Given the description of an element on the screen output the (x, y) to click on. 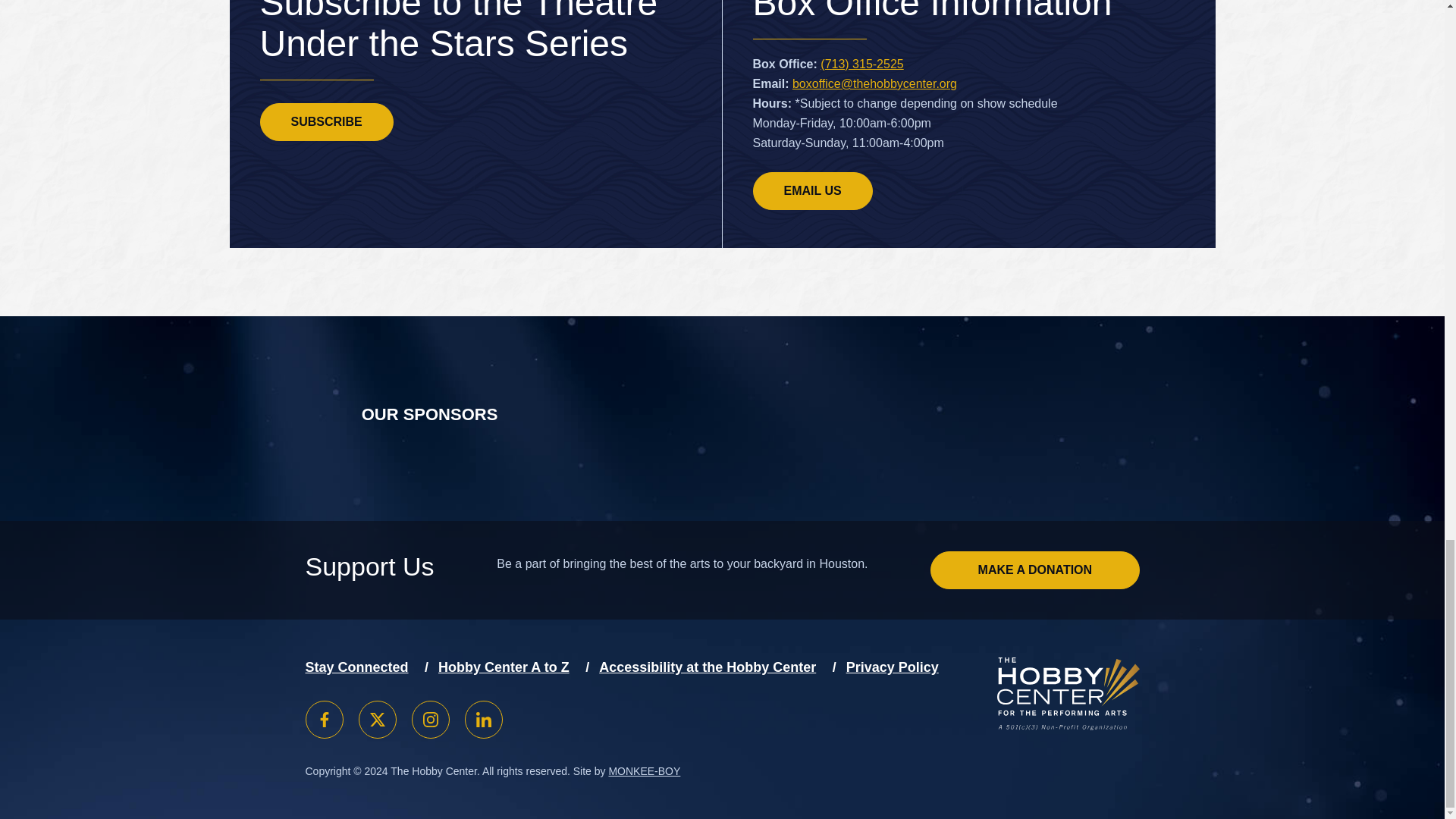
Monkee-Boy Web Design, Inc (643, 770)
Visit us on instagram (429, 719)
United Airlines (745, 418)
Visit us on twitter (377, 719)
ExxonMobil (904, 417)
Visit us on linkedin (483, 719)
Lexus (596, 418)
Casamigos (1033, 418)
Back to Homepage (1066, 725)
Visit us on facebook (323, 719)
